Given the description of an element on the screen output the (x, y) to click on. 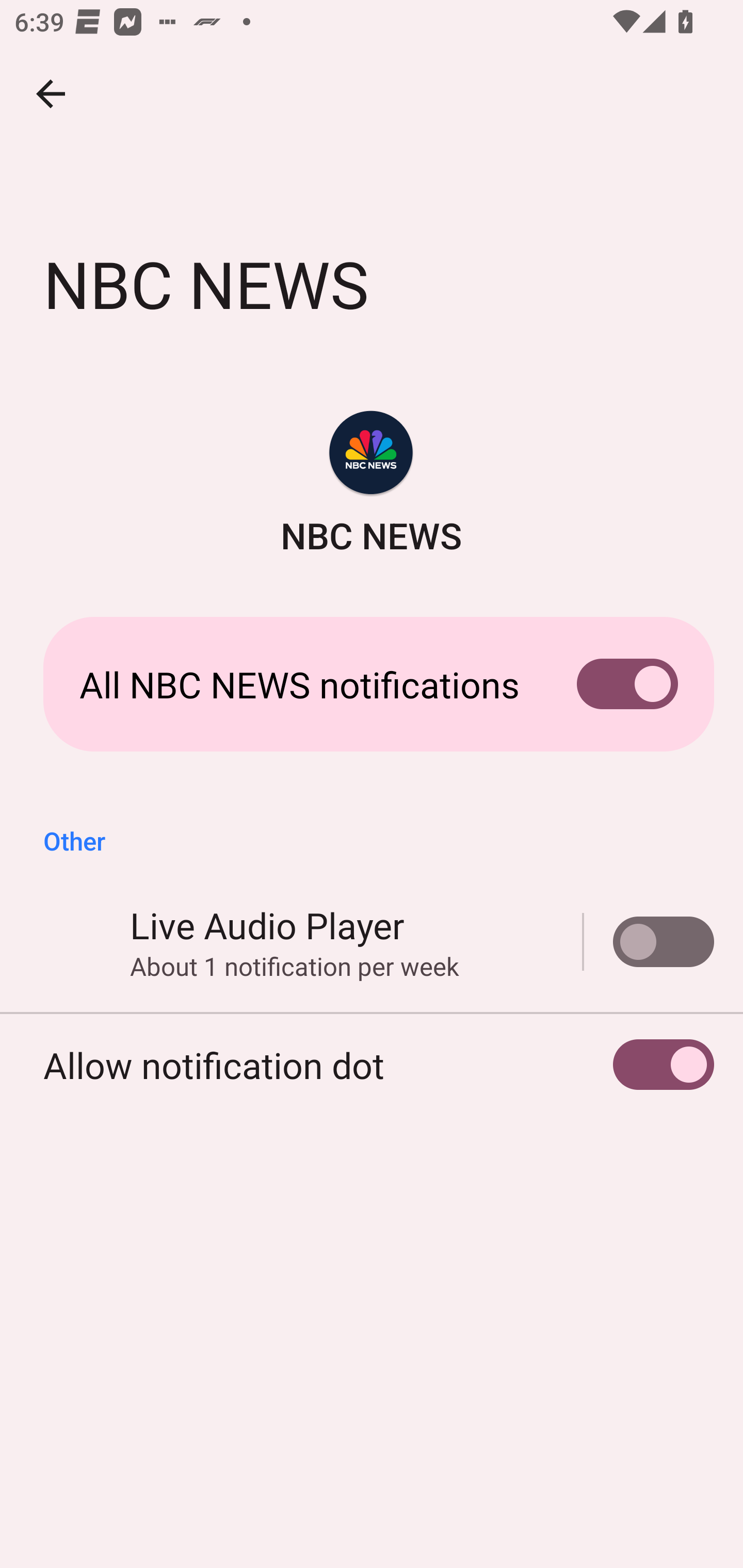
Navigate up (50, 93)
NBC NEWS (371, 484)
All NBC NEWS notifications (371, 684)
Live Audio Player (648, 941)
Allow notification dot (371, 1064)
